Given the description of an element on the screen output the (x, y) to click on. 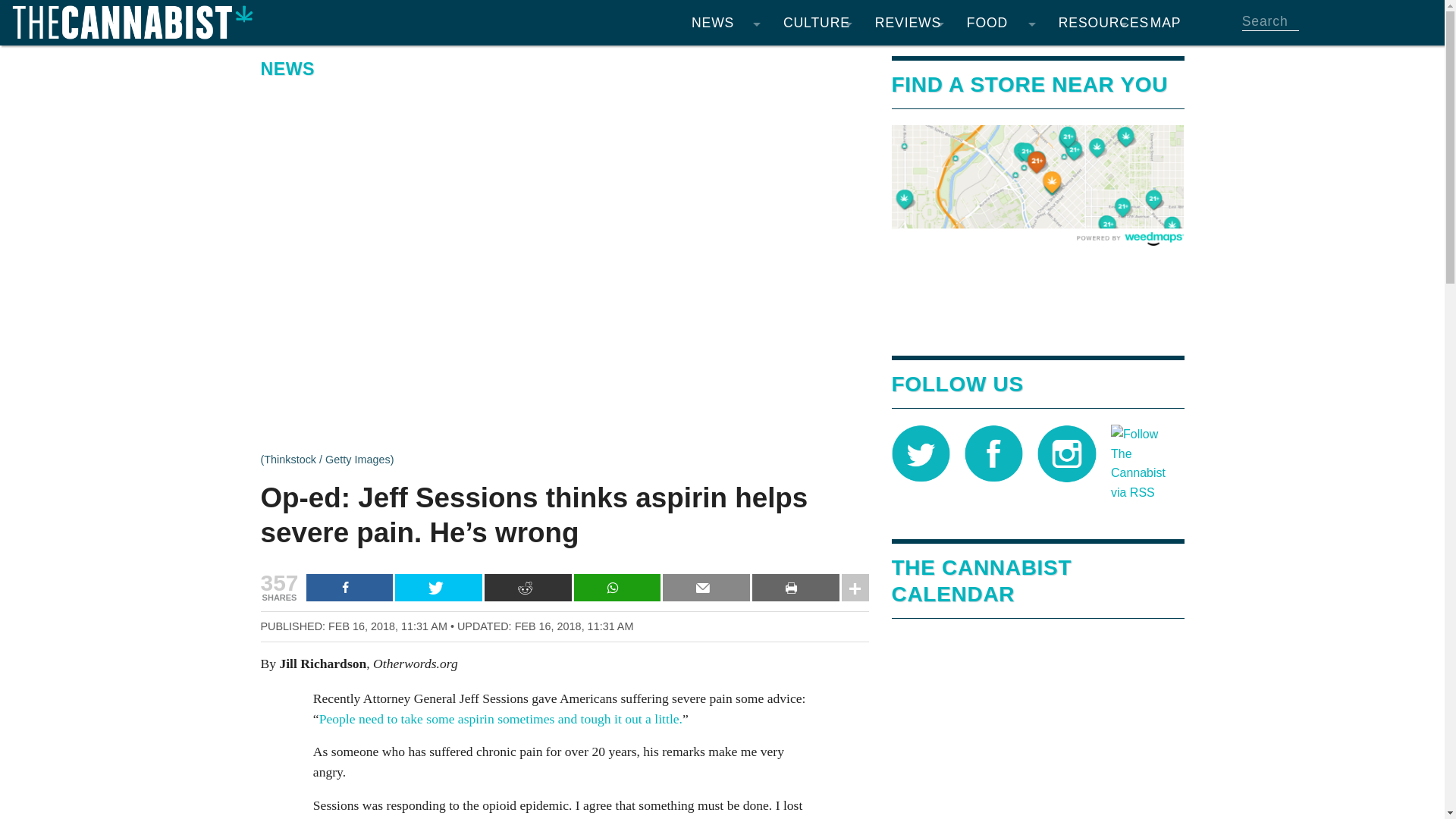
YEAR IN REVIEW (725, 272)
CRIME (725, 242)
WORLD NEWS (725, 151)
RESOURCES (1092, 22)
FOOD (1000, 22)
BUSINESS (725, 212)
Follow The Cannabist on Twitter (920, 452)
POT AND PARENTING (817, 212)
THE DENVER POST (725, 303)
CULTURE (817, 22)
